Given the description of an element on the screen output the (x, y) to click on. 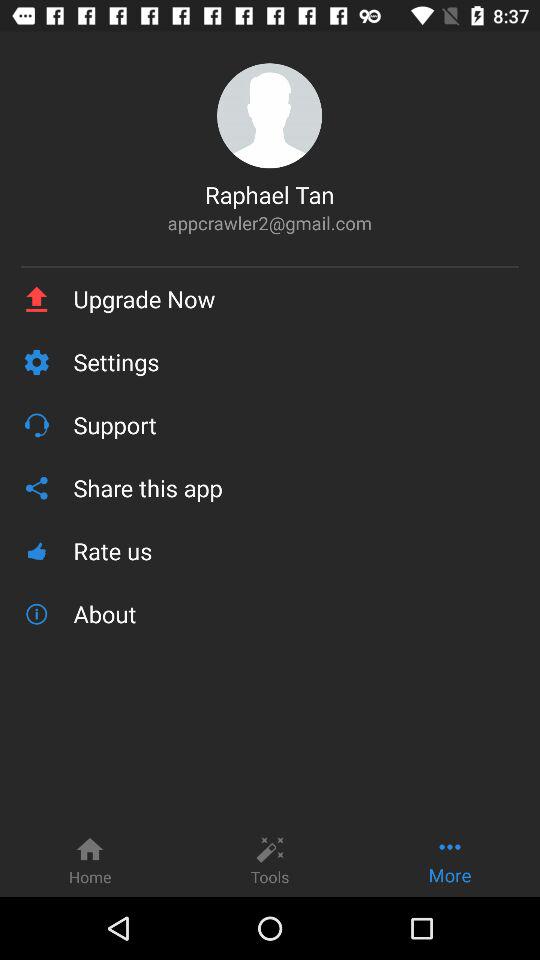
launch appcrawler2@gmail.com (269, 222)
